Given the description of an element on the screen output the (x, y) to click on. 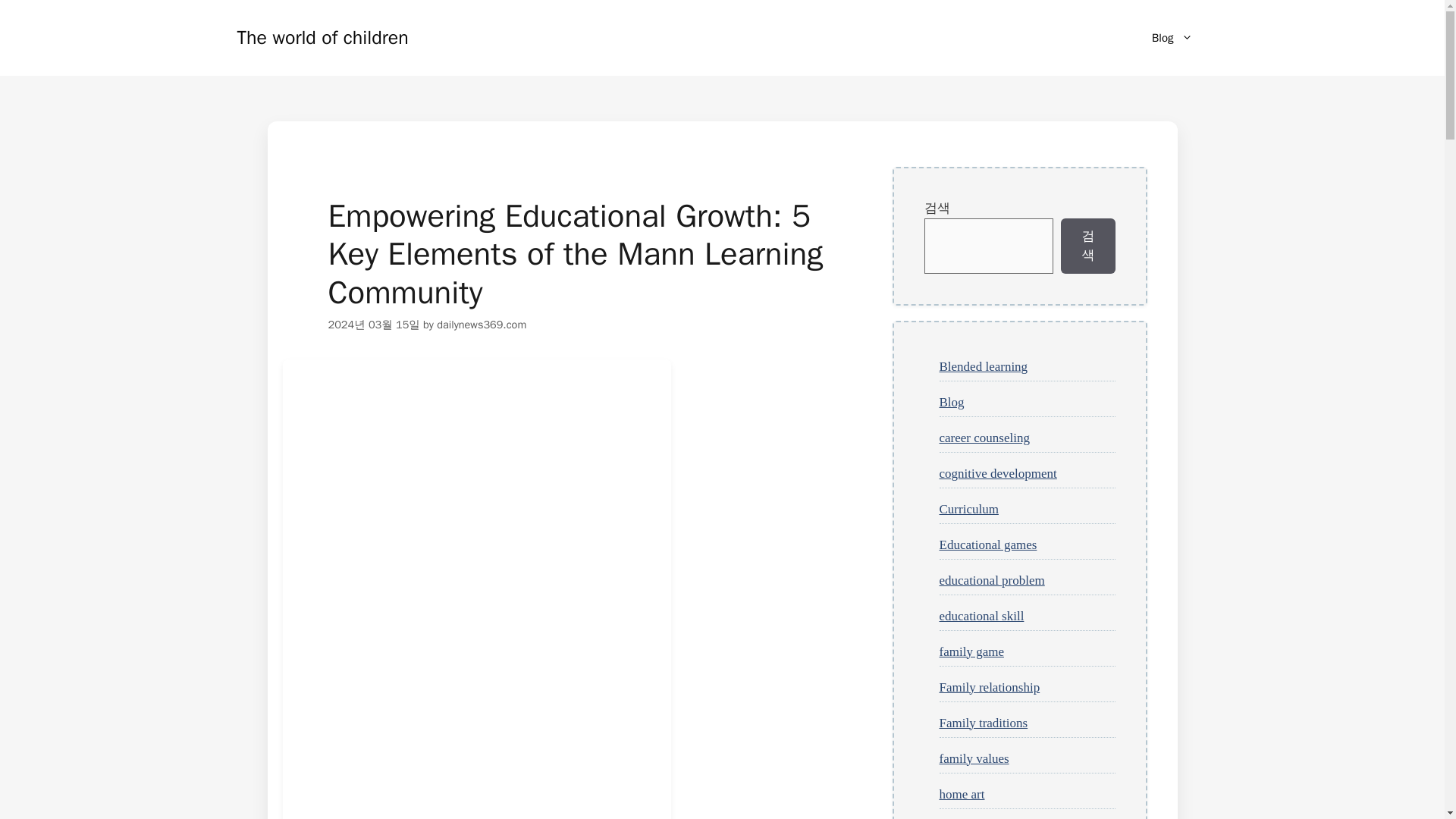
The world of children (321, 37)
dailynews369.com (480, 324)
Blog (1172, 37)
View all posts by dailynews369.com (480, 324)
